Given the description of an element on the screen output the (x, y) to click on. 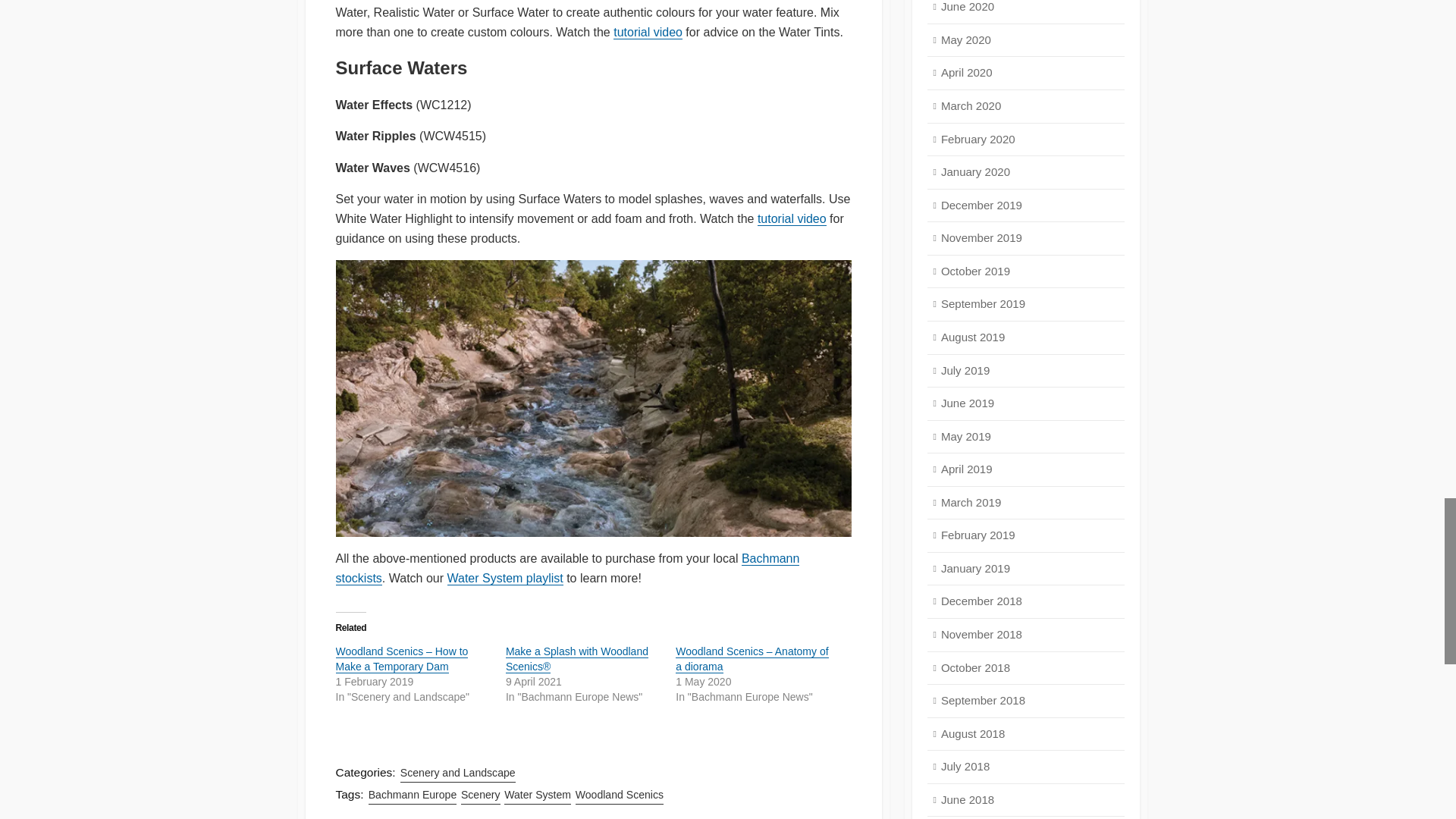
Scenery (480, 794)
Scenery and Landscape (457, 773)
tutorial video (647, 31)
Bachmann stockists (566, 568)
Water System playlist (504, 577)
Water System (536, 794)
tutorial video (792, 218)
Bachmann Europe (412, 794)
Woodland Scenics (619, 794)
